Given the description of an element on the screen output the (x, y) to click on. 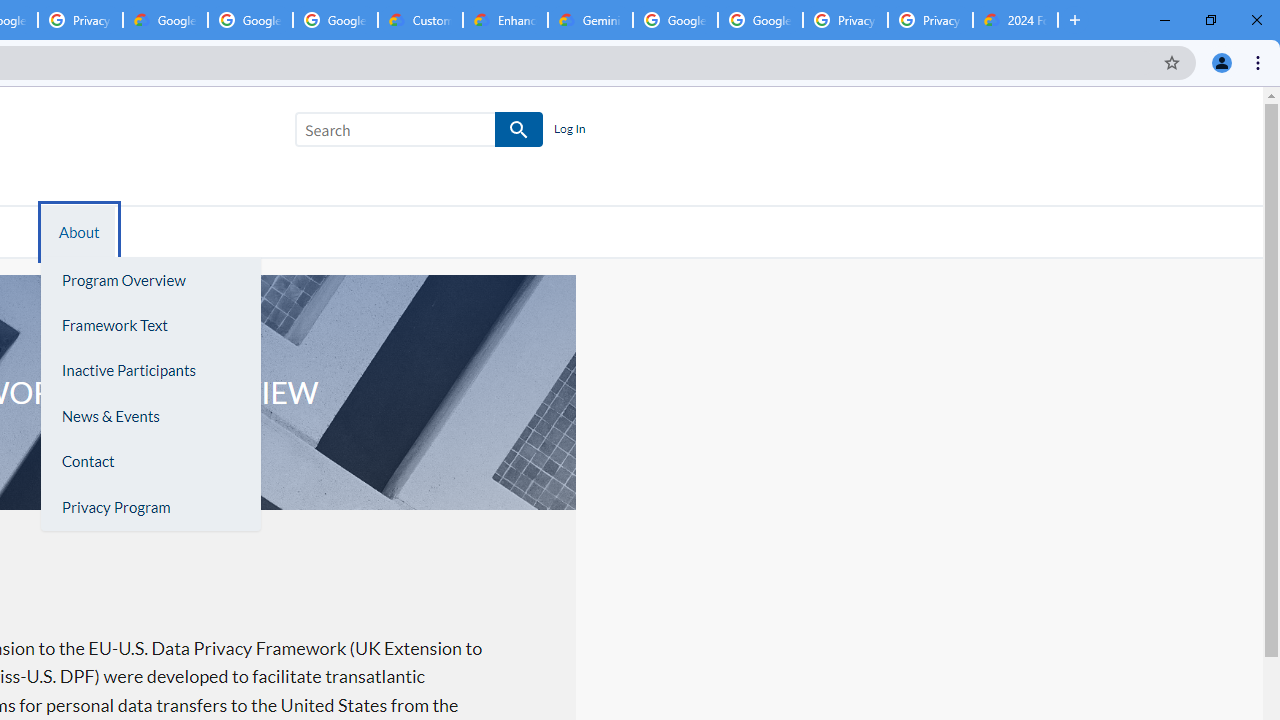
Search SEARCH (419, 133)
Google Cloud Platform (760, 20)
Log In (569, 129)
Program Overview (149, 280)
Framework Text (149, 325)
Customer Care | Google Cloud (420, 20)
Google Cloud Platform (675, 20)
SEARCH (519, 130)
